Given the description of an element on the screen output the (x, y) to click on. 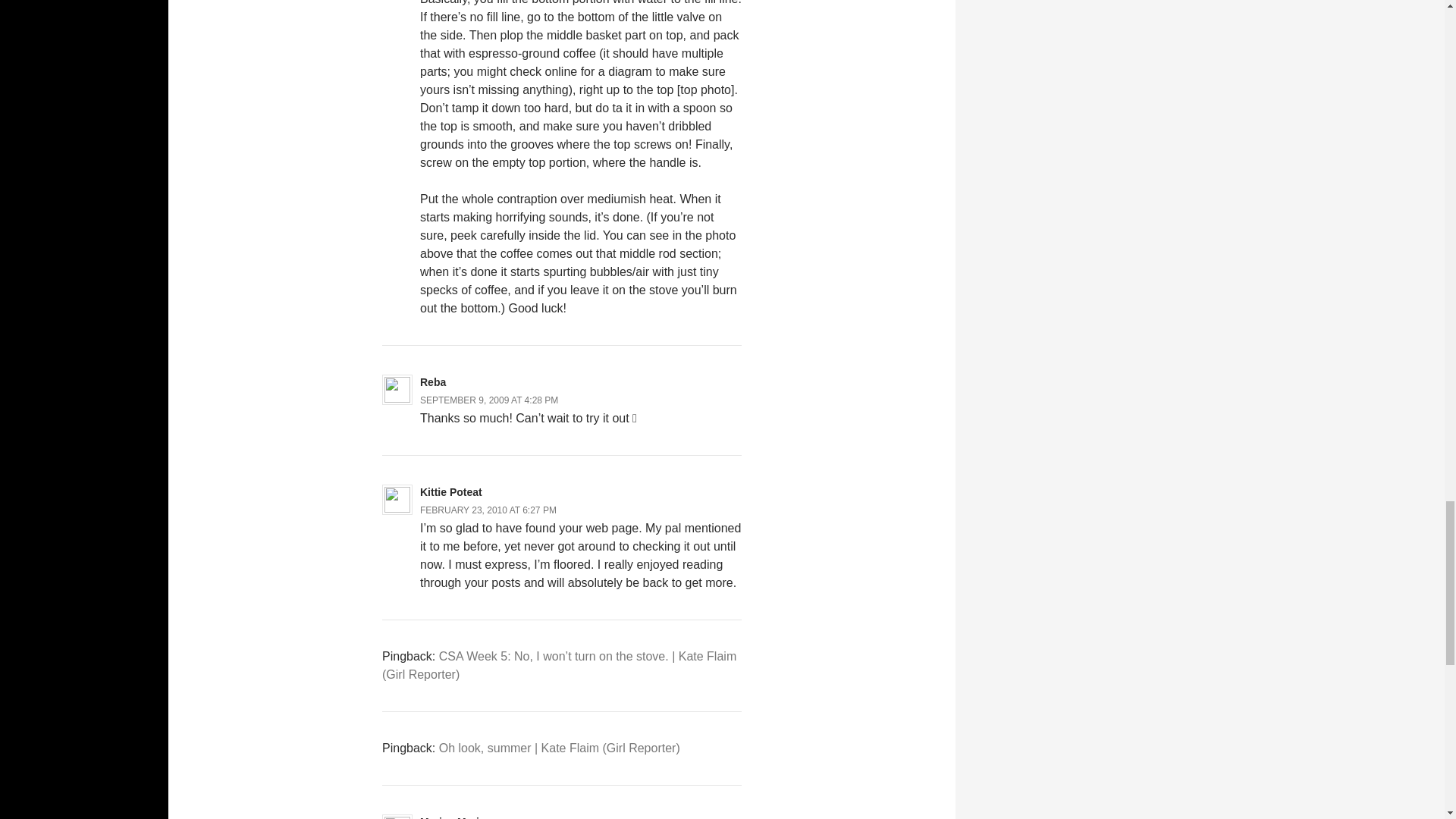
SEPTEMBER 9, 2009 AT 4:28 PM (488, 398)
Marian Marius (456, 817)
FEBRUARY 23, 2010 AT 6:27 PM (488, 510)
Kittie Poteat (450, 491)
